Given the description of an element on the screen output the (x, y) to click on. 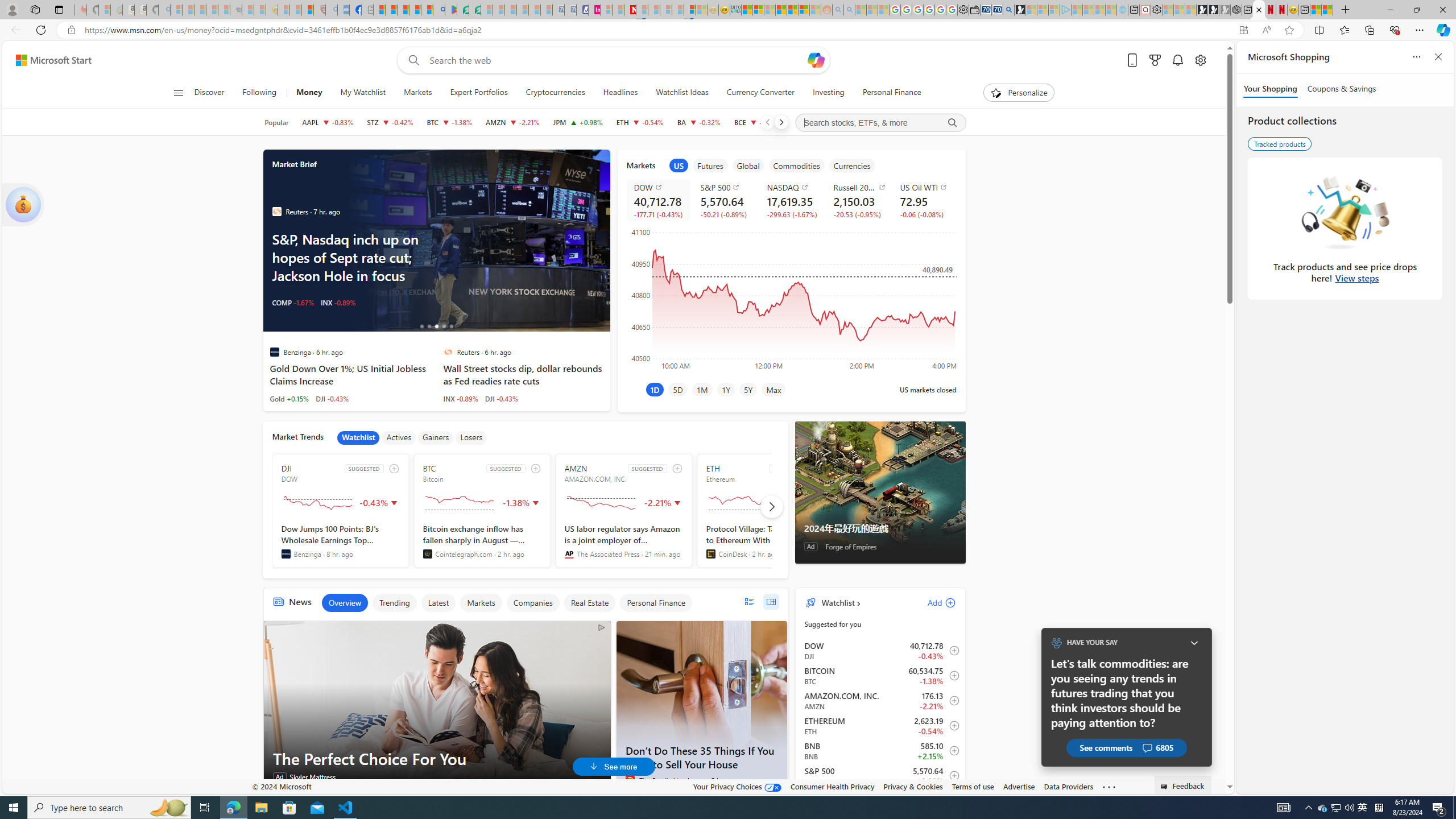
Watchlist Ideas (681, 92)
